Given the description of an element on the screen output the (x, y) to click on. 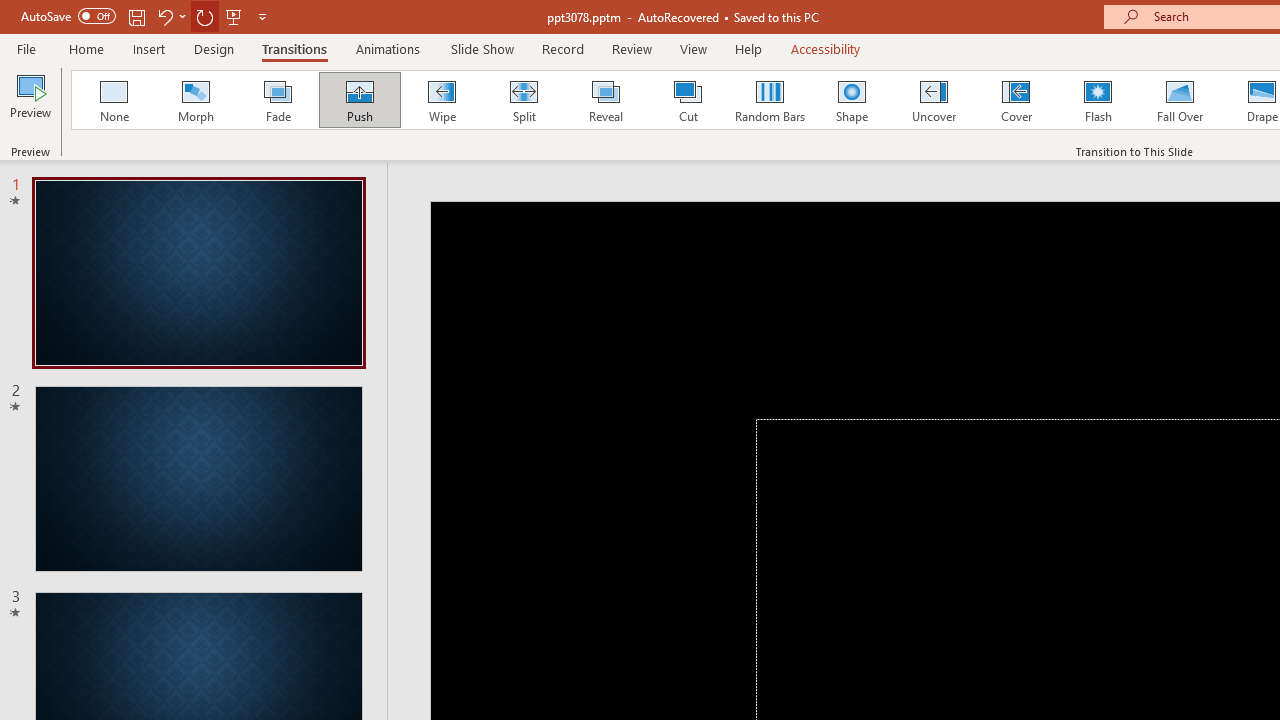
Reveal (605, 100)
Uncover (934, 100)
